Given the description of an element on the screen output the (x, y) to click on. 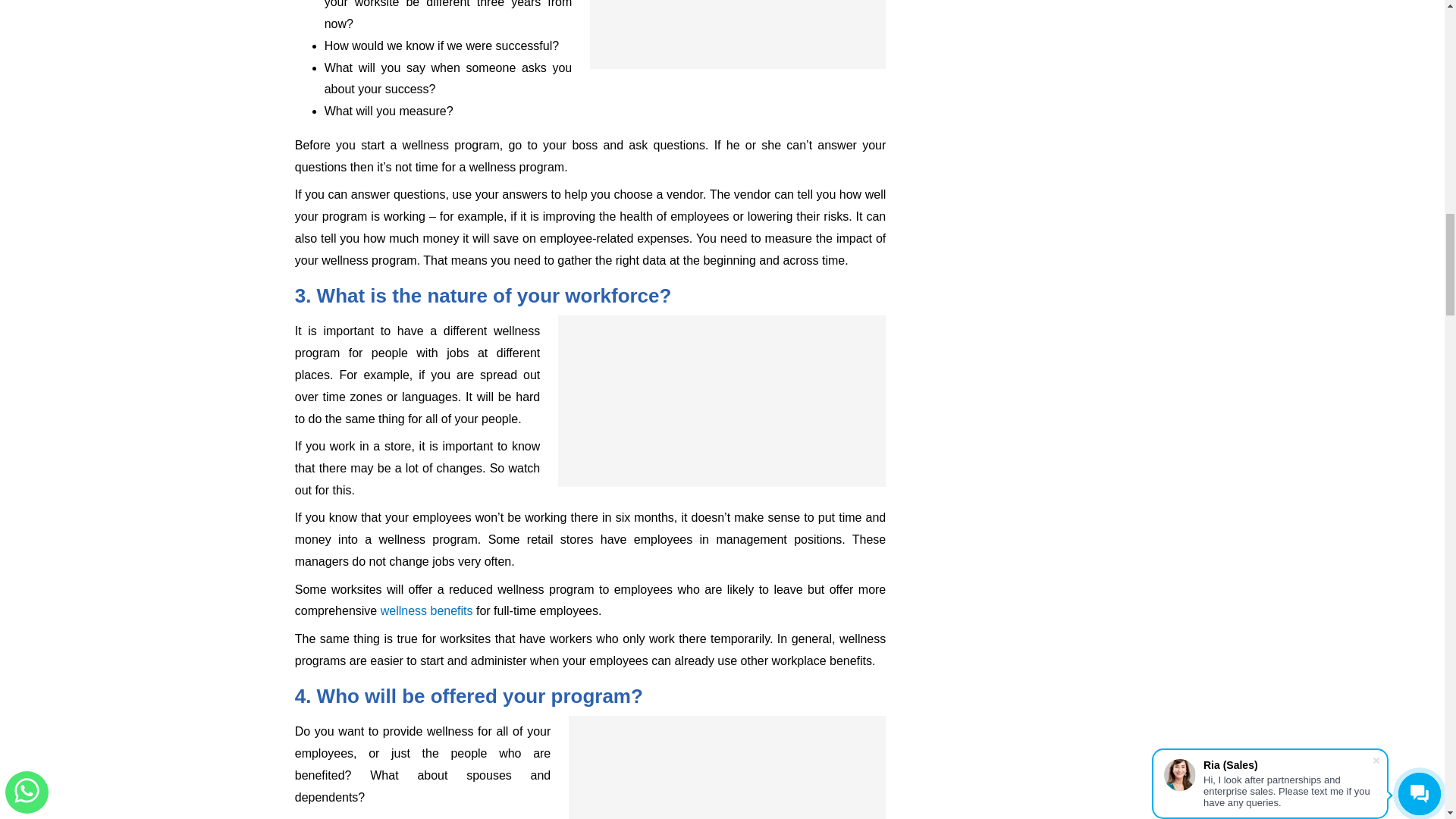
wellness benefits (426, 610)
